Given the description of an element on the screen output the (x, y) to click on. 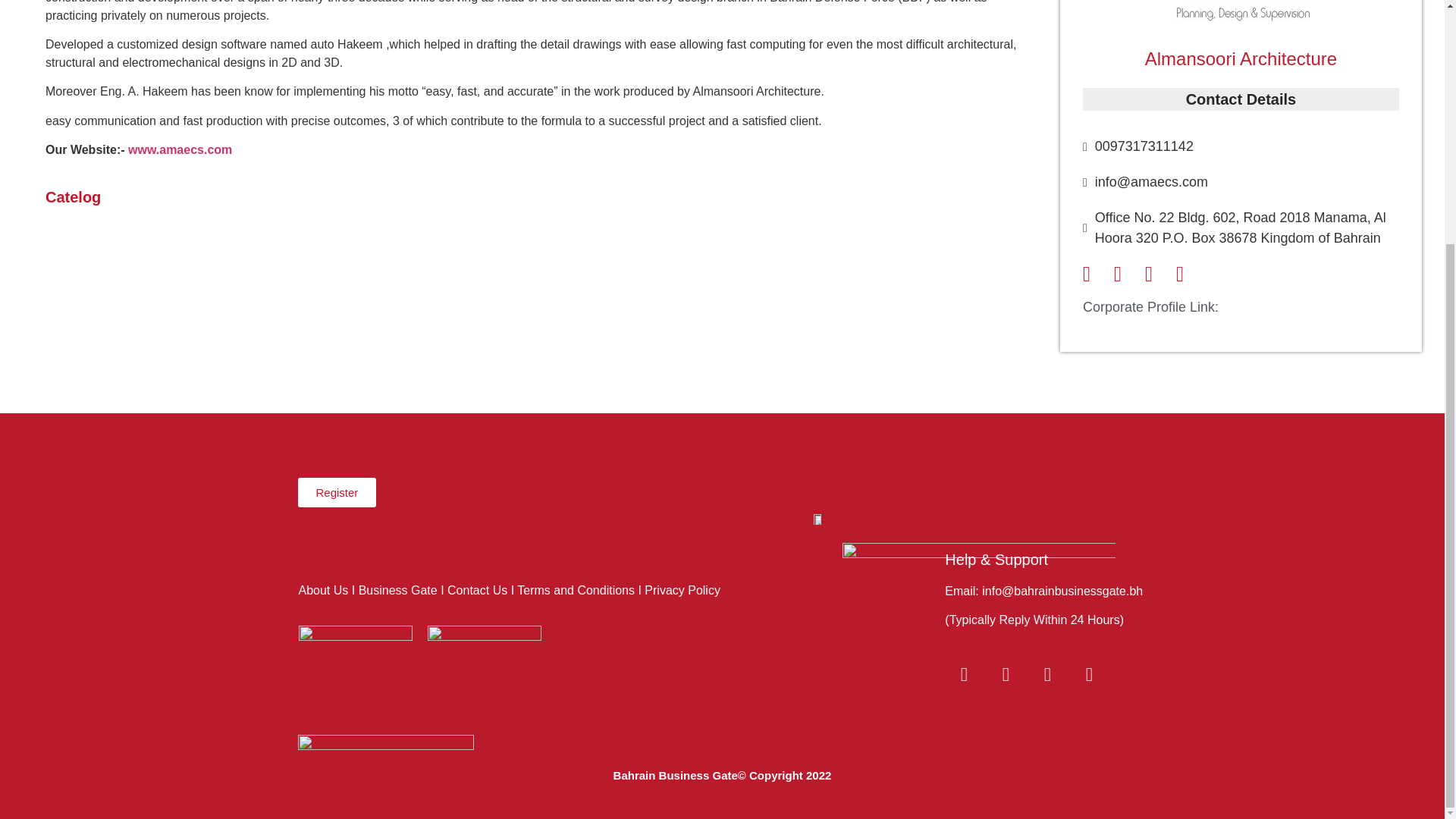
Register (336, 491)
I Terms and Conditions (572, 590)
www.amaecs.com (179, 149)
I Privacy Policy (678, 590)
About Us (323, 590)
Business Gate (398, 590)
